Given the description of an element on the screen output the (x, y) to click on. 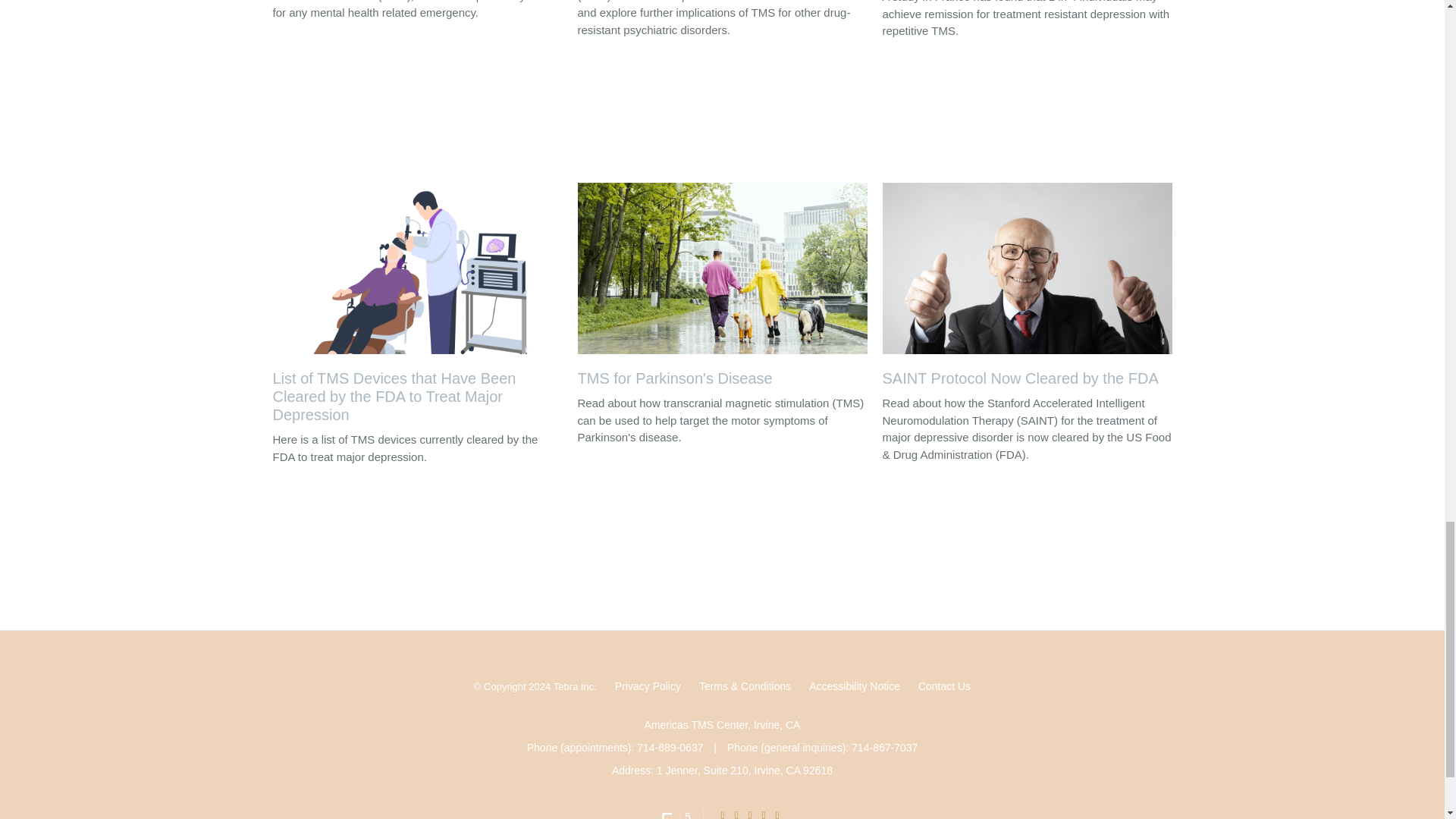
Star Rating (749, 814)
Star Rating (763, 814)
Star Rating (777, 814)
Star Rating (722, 814)
Star Rating (735, 814)
